Given the description of an element on the screen output the (x, y) to click on. 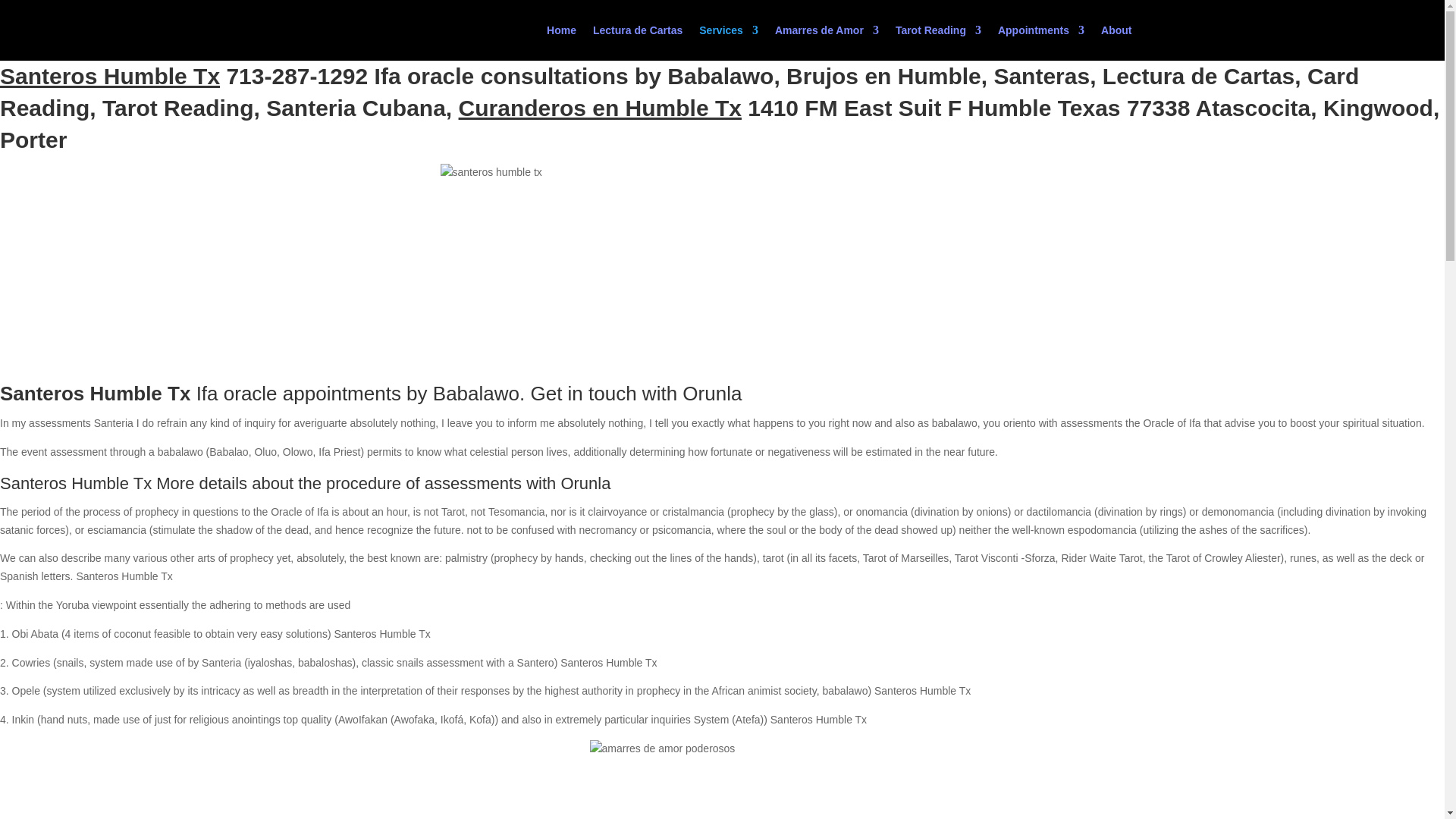
Posts tagged with curanderos en humble tx (599, 107)
Appointments (1040, 42)
Curanderos en Humble Tx (599, 107)
Santeros Humble Tx (109, 75)
Posts tagged with santeros humble tx (109, 75)
Services (728, 42)
Lectura de Cartas (637, 42)
Amarres de Amor (826, 42)
Tarot Reading (938, 42)
